Given the description of an element on the screen output the (x, y) to click on. 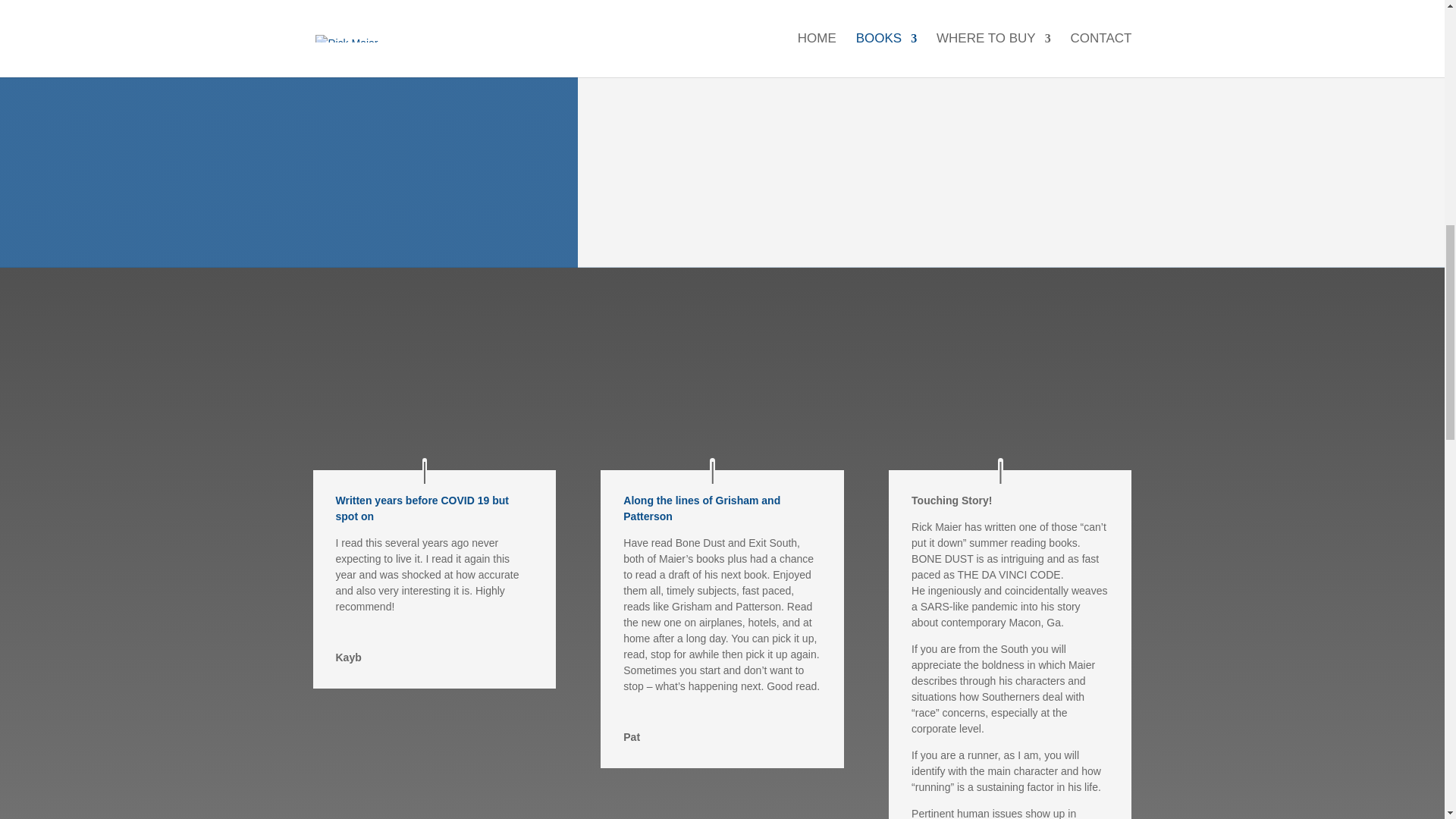
Along the lines of Grisham and Patterson (701, 508)
Written years before COVID 19 but spot on (421, 508)
